Given the description of an element on the screen output the (x, y) to click on. 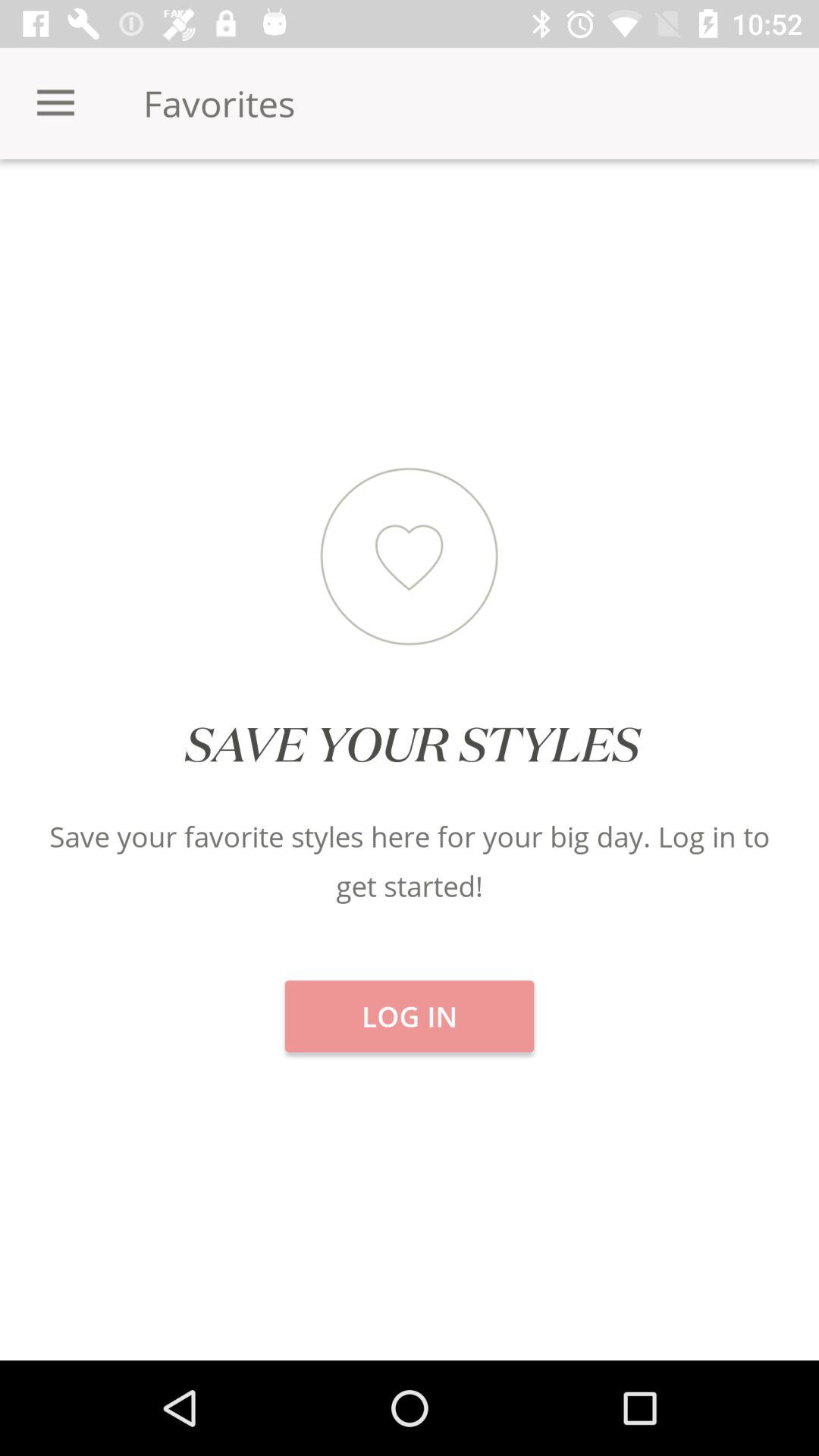
open item to the right of the featured (682, 212)
